Given the description of an element on the screen output the (x, y) to click on. 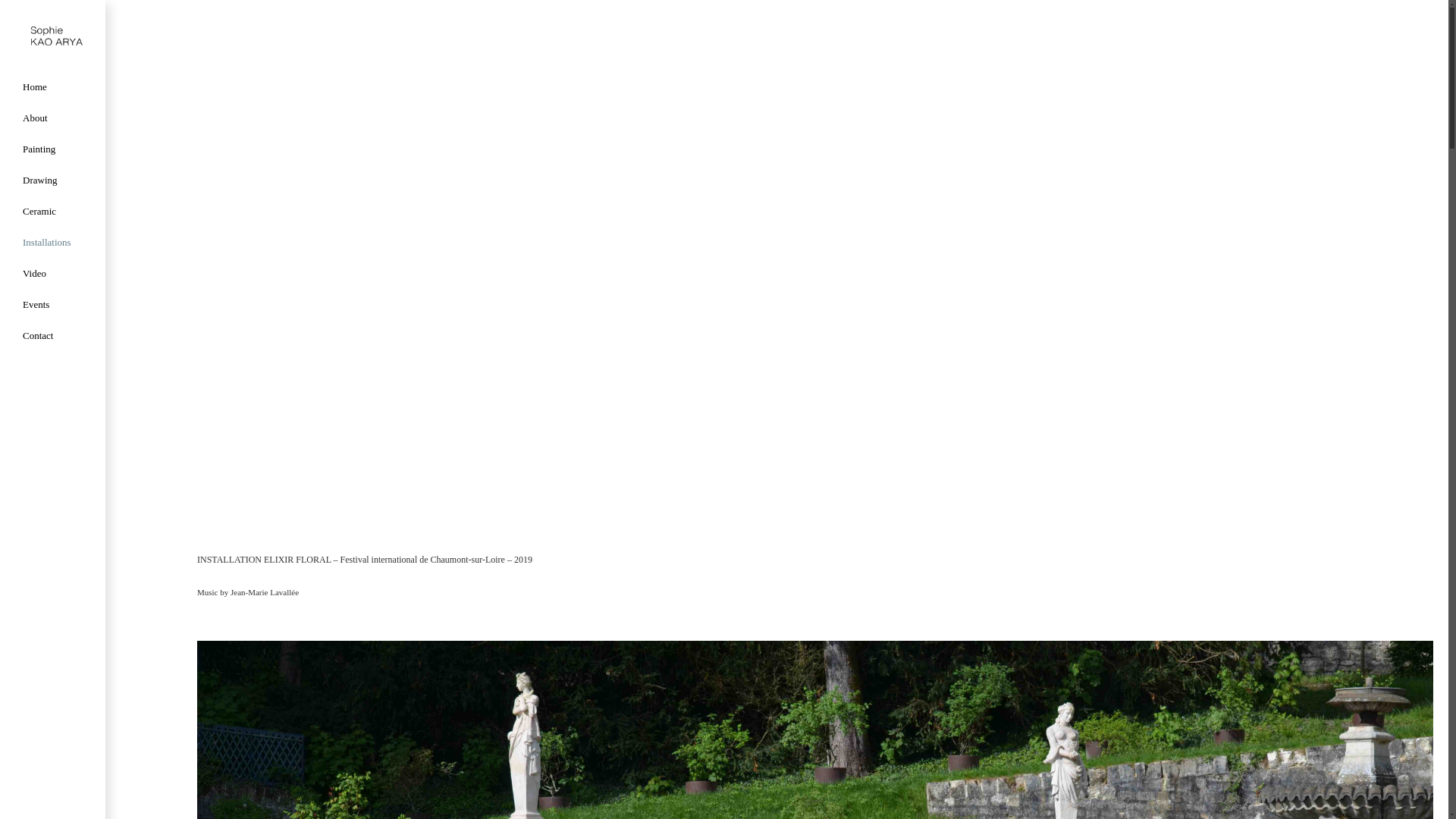
Contact (53, 335)
Video (53, 273)
Painting (53, 148)
DOWN (1430, 806)
Home (53, 87)
Installations (53, 242)
About (53, 118)
Ceramic (53, 210)
Drawing (53, 180)
